Given the description of an element on the screen output the (x, y) to click on. 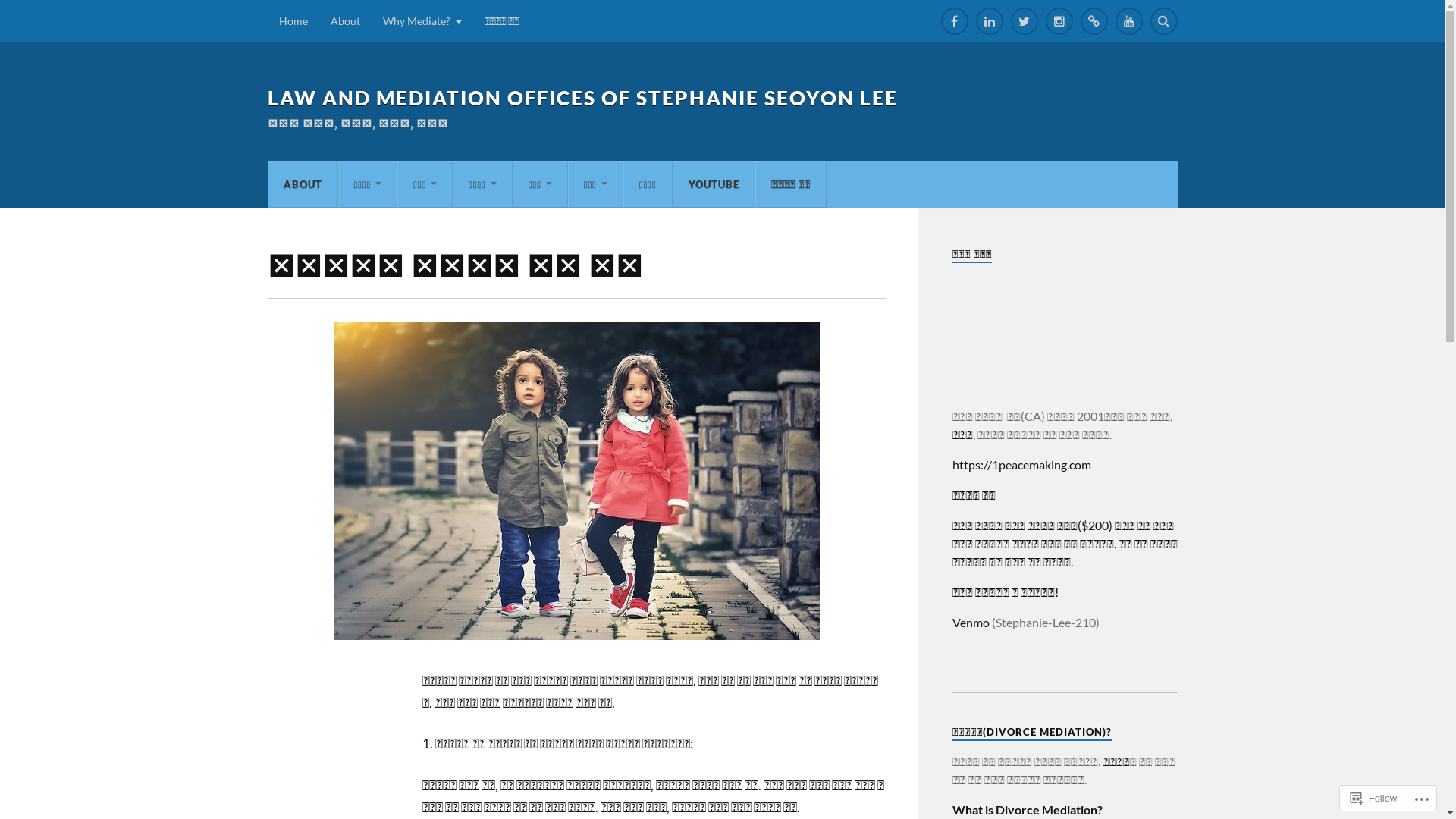
Home Element type: text (292, 21)
Venmo Element type: text (970, 622)
LAW AND MEDIATION OFFICES OF STEPHANIE SEOYON LEE Element type: text (581, 97)
https://1peacemaking.com Element type: text (1021, 464)
YOUTUBE Element type: text (713, 183)
Why Mediate? Element type: text (422, 21)
About Element type: text (344, 21)
ABOUT Element type: text (302, 183)
Follow Element type: text (1373, 797)
What is Divorce Mediation? Element type: text (1027, 809)
